Given the description of an element on the screen output the (x, y) to click on. 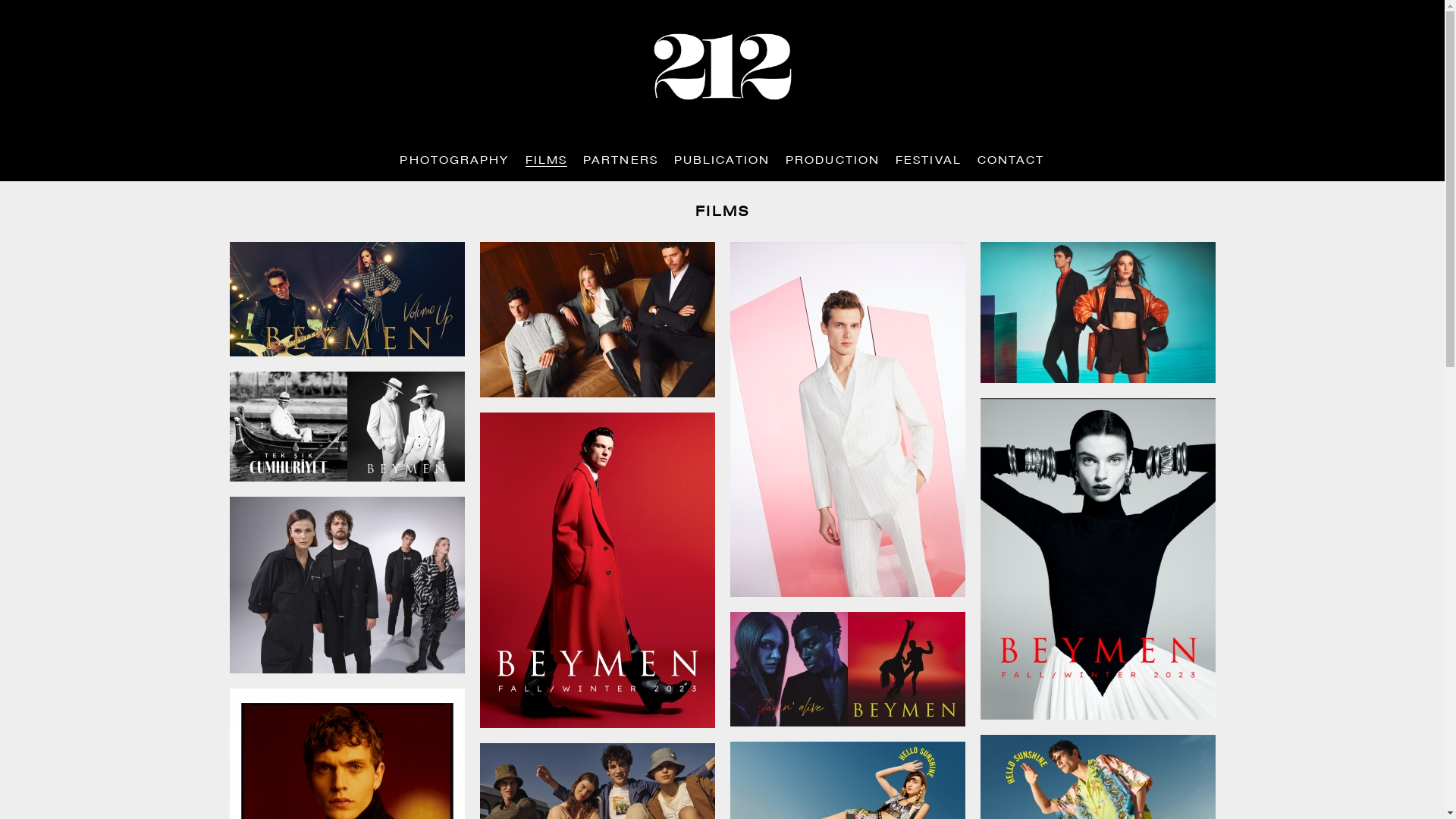
FESTIVAL Element type: text (928, 159)
FILMS Element type: text (546, 159)
PUBLICATION Element type: text (721, 159)
PRODUCTION Element type: text (832, 159)
PHOTOGRAPHY Element type: text (453, 159)
PARTNERS Element type: text (620, 159)
CONTACT Element type: text (1010, 159)
